Given the description of an element on the screen output the (x, y) to click on. 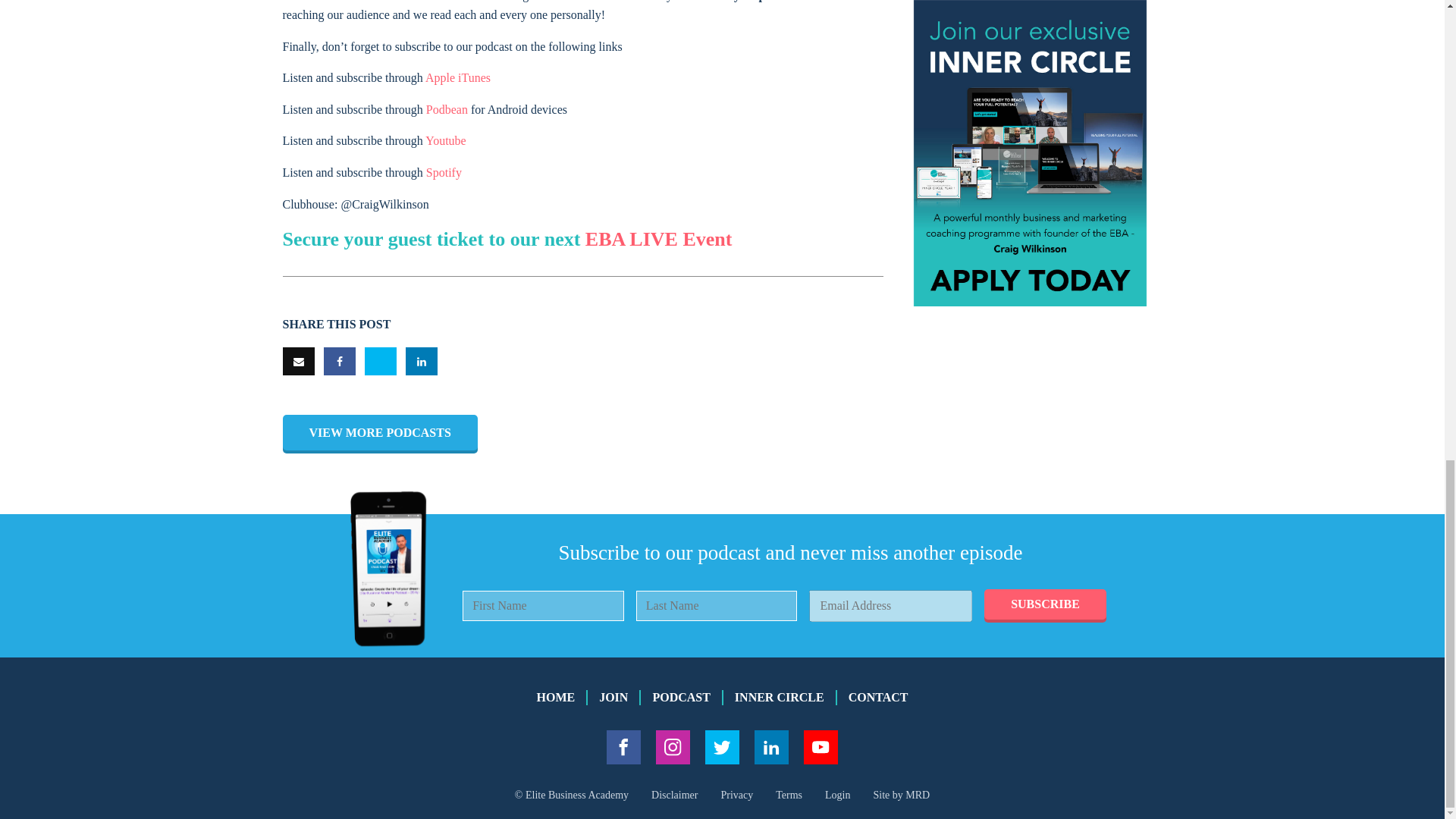
Podbean (446, 109)
Apple iTunes (457, 77)
Subscribe (1045, 604)
VIEW MORE PODCASTS (379, 433)
Subscribe (1045, 604)
Spotify (443, 172)
EBA LIVE Event (658, 239)
Youtube (445, 140)
iTunes (625, 0)
